Given the description of an element on the screen output the (x, y) to click on. 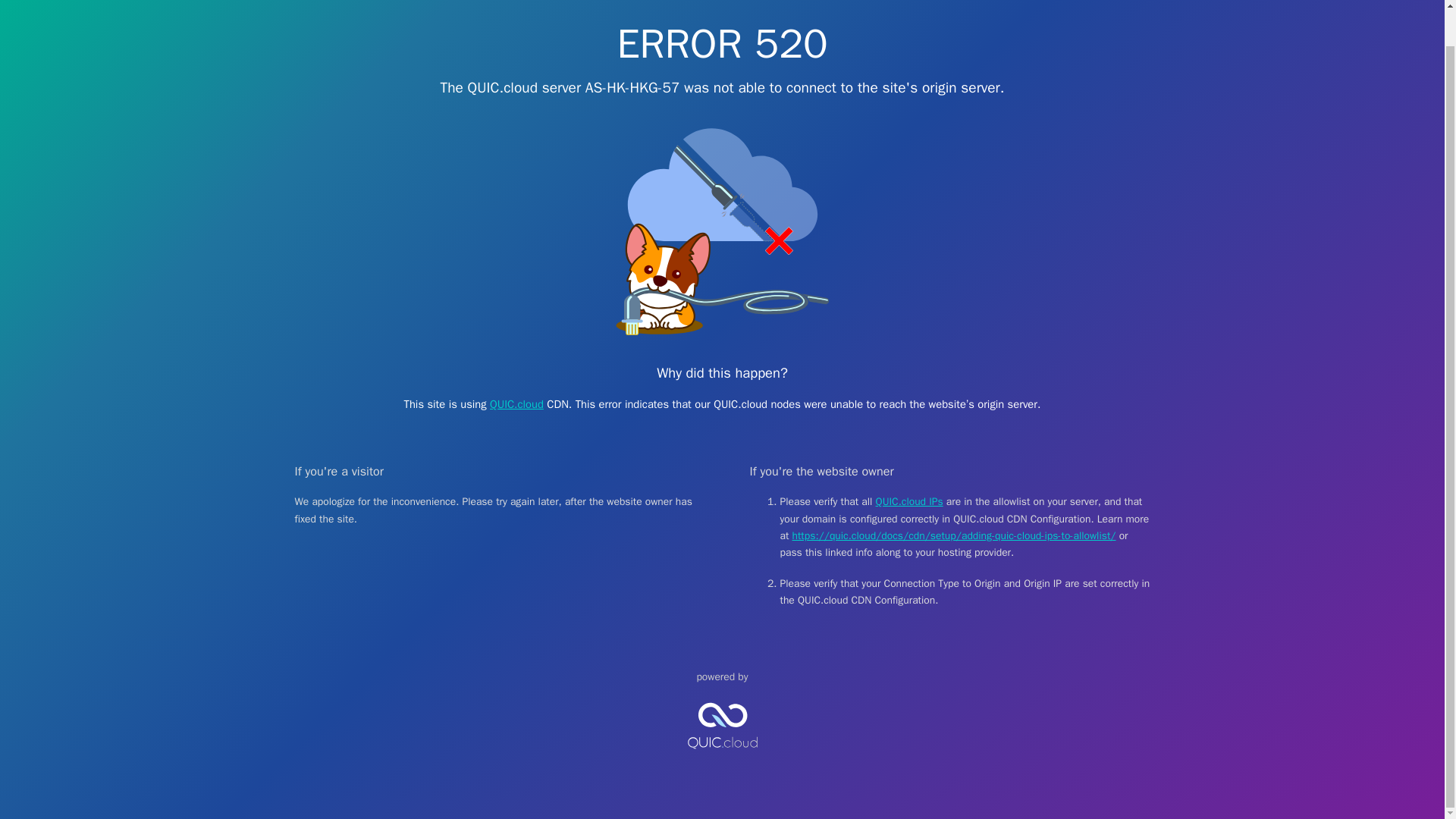
QUIC.cloud IPs (909, 501)
QUIC.cloud (721, 761)
QUIC.cloud (516, 404)
